Given the description of an element on the screen output the (x, y) to click on. 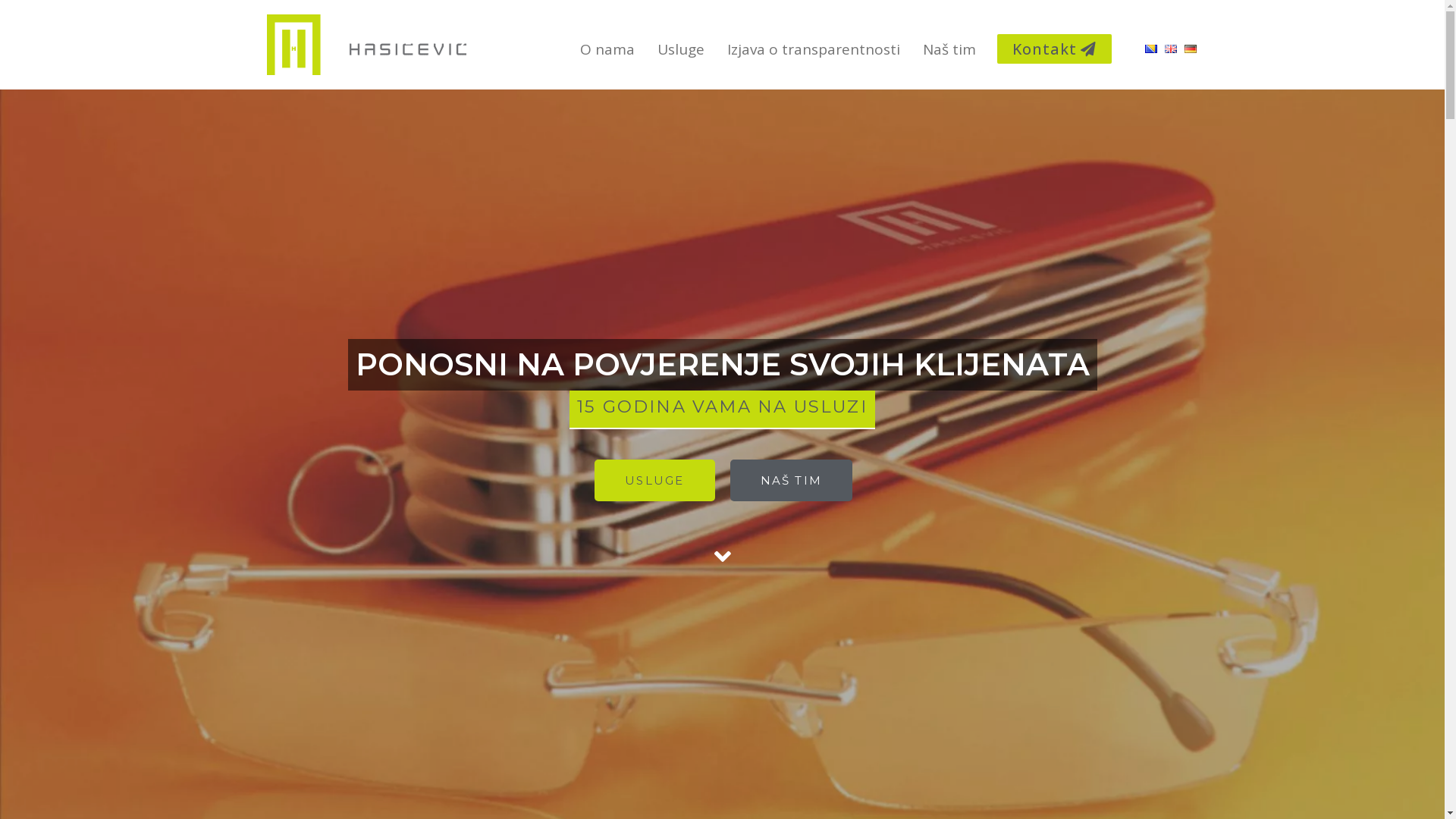
Usluge Element type: text (680, 48)
USLUGE Element type: text (654, 480)
Izjava o transparentnosti Element type: text (813, 48)
O nama Element type: text (607, 48)
Kontakt Element type: text (1054, 49)
